Given the description of an element on the screen output the (x, y) to click on. 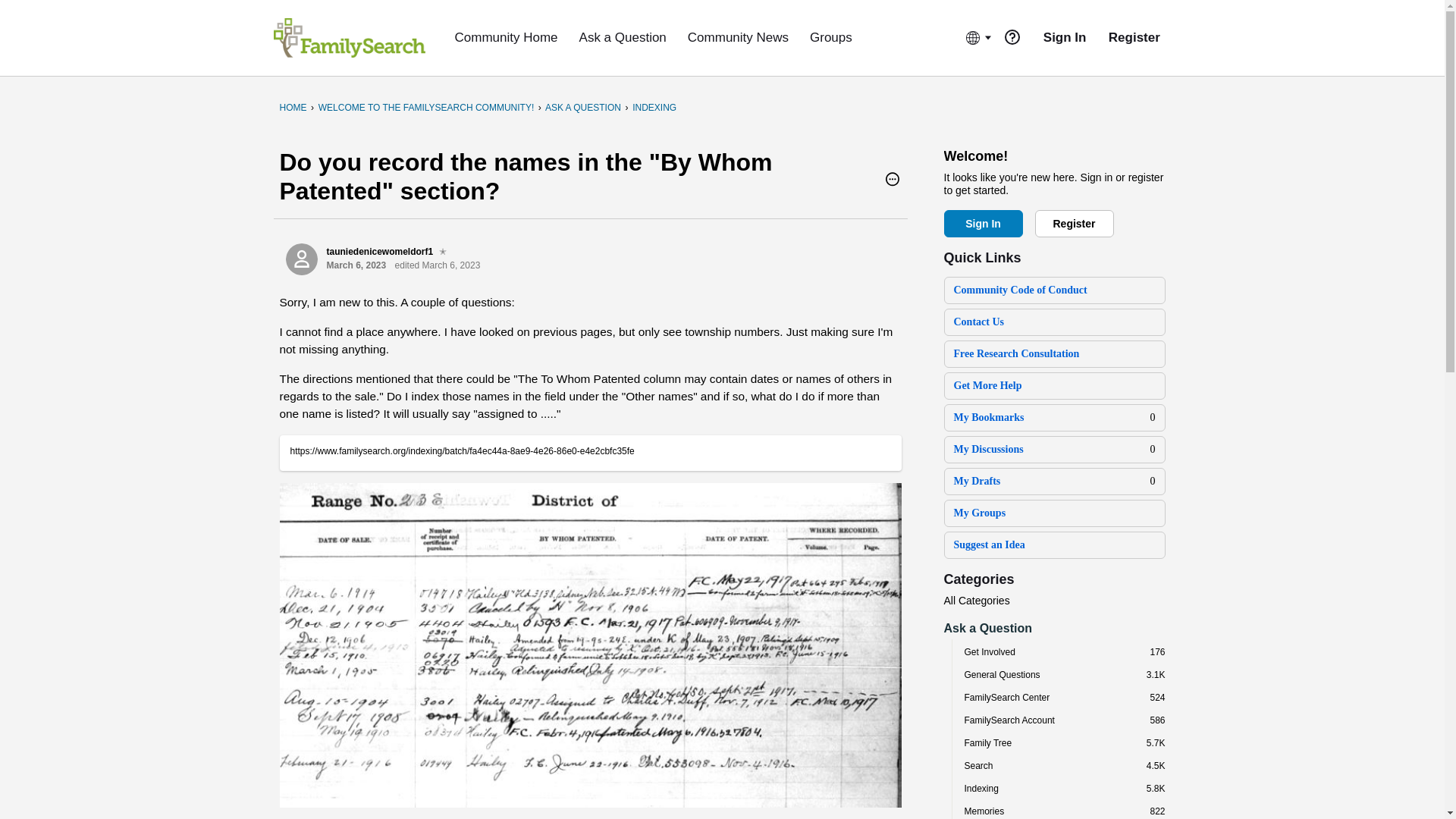
Level 1 (442, 251)
Edited March 6, 2023 3:47AM by Image Moderator. (437, 265)
tauniedenicewomeldorf1 (301, 259)
March 6, 2023 3:34AM (355, 265)
notice-question (1012, 36)
